Given the description of an element on the screen output the (x, y) to click on. 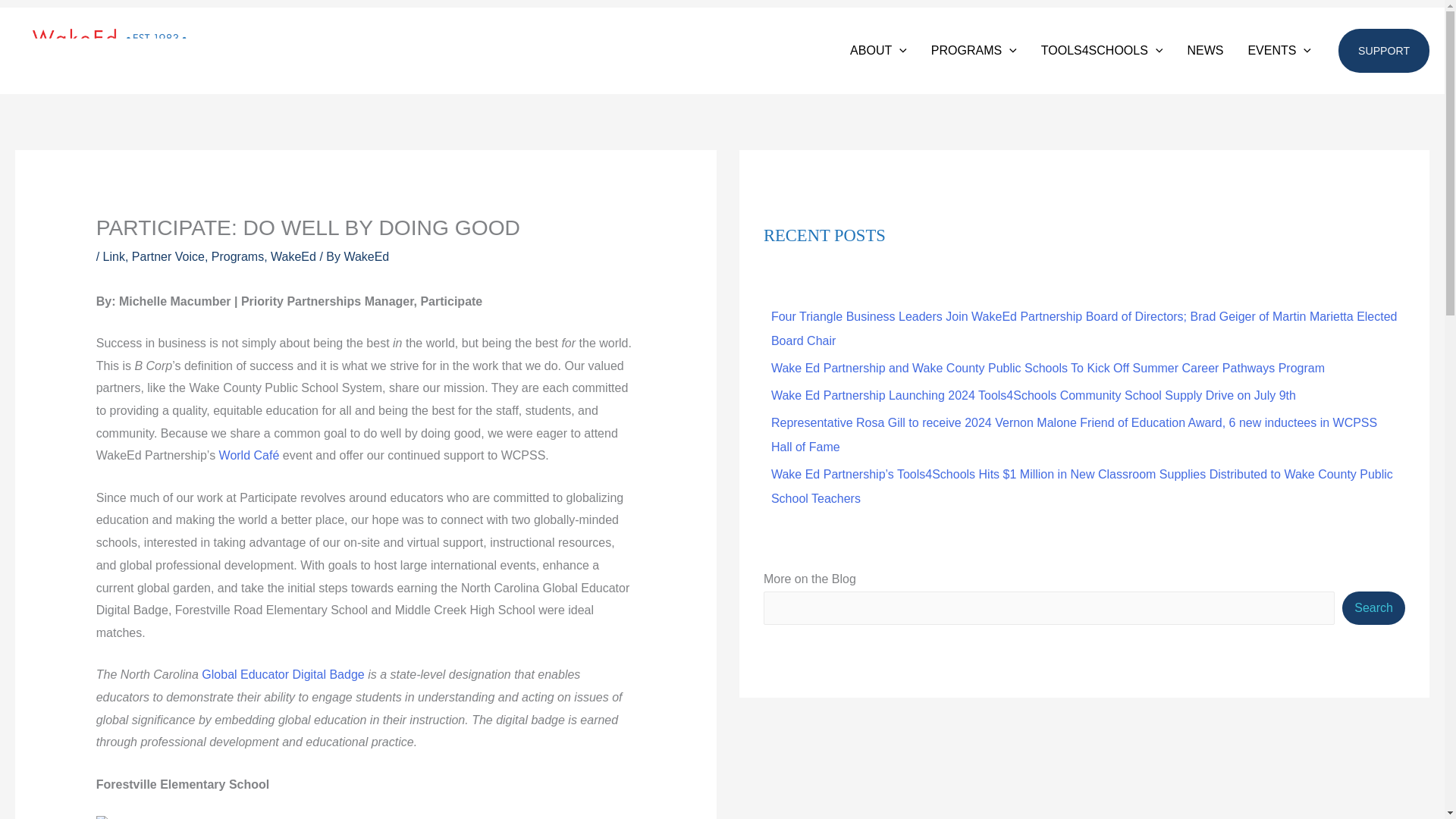
NEWS (1204, 50)
TOOLS4SCHOOLS (1101, 50)
PROGRAMS (973, 50)
View all posts by WakeEd (365, 256)
EVENTS (1278, 50)
SUPPORT (1383, 50)
ABOUT (878, 50)
